Given the description of an element on the screen output the (x, y) to click on. 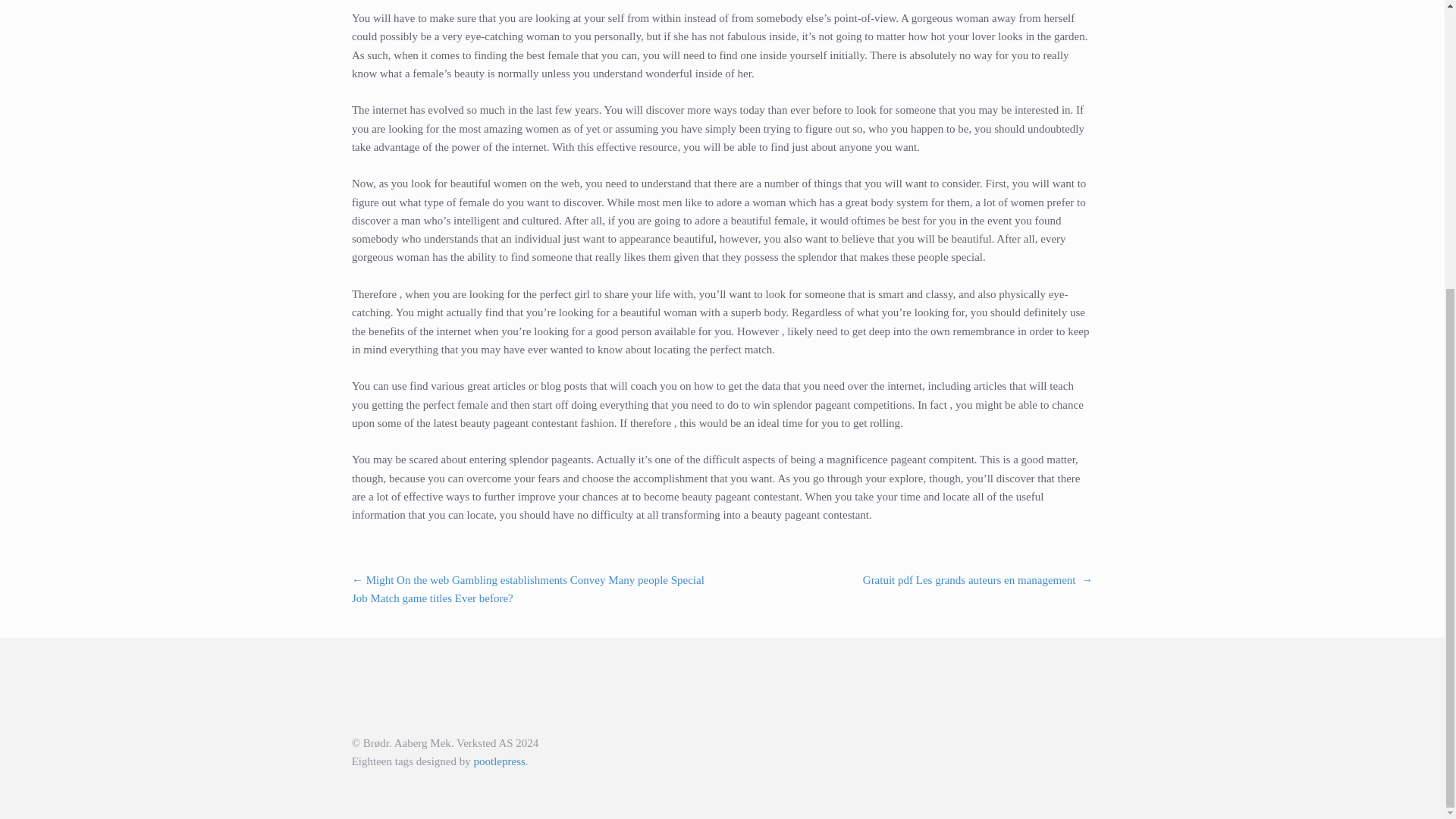
pootlepress (498, 761)
